Given the description of an element on the screen output the (x, y) to click on. 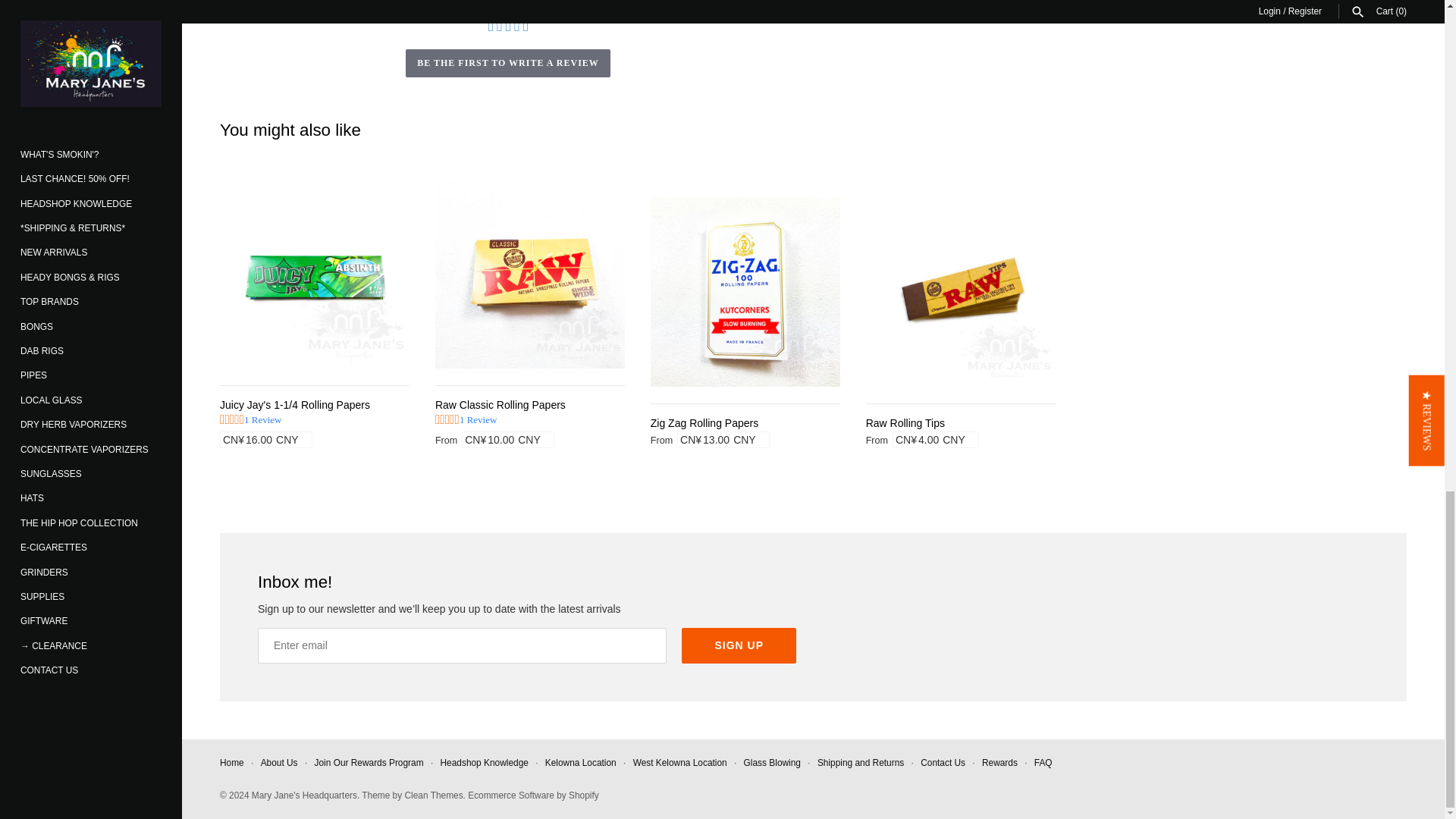
Raw Classic Rolling Papers (529, 273)
Zig Zag Rolling Papers (745, 291)
Raw Rolling Tips (960, 291)
